Given the description of an element on the screen output the (x, y) to click on. 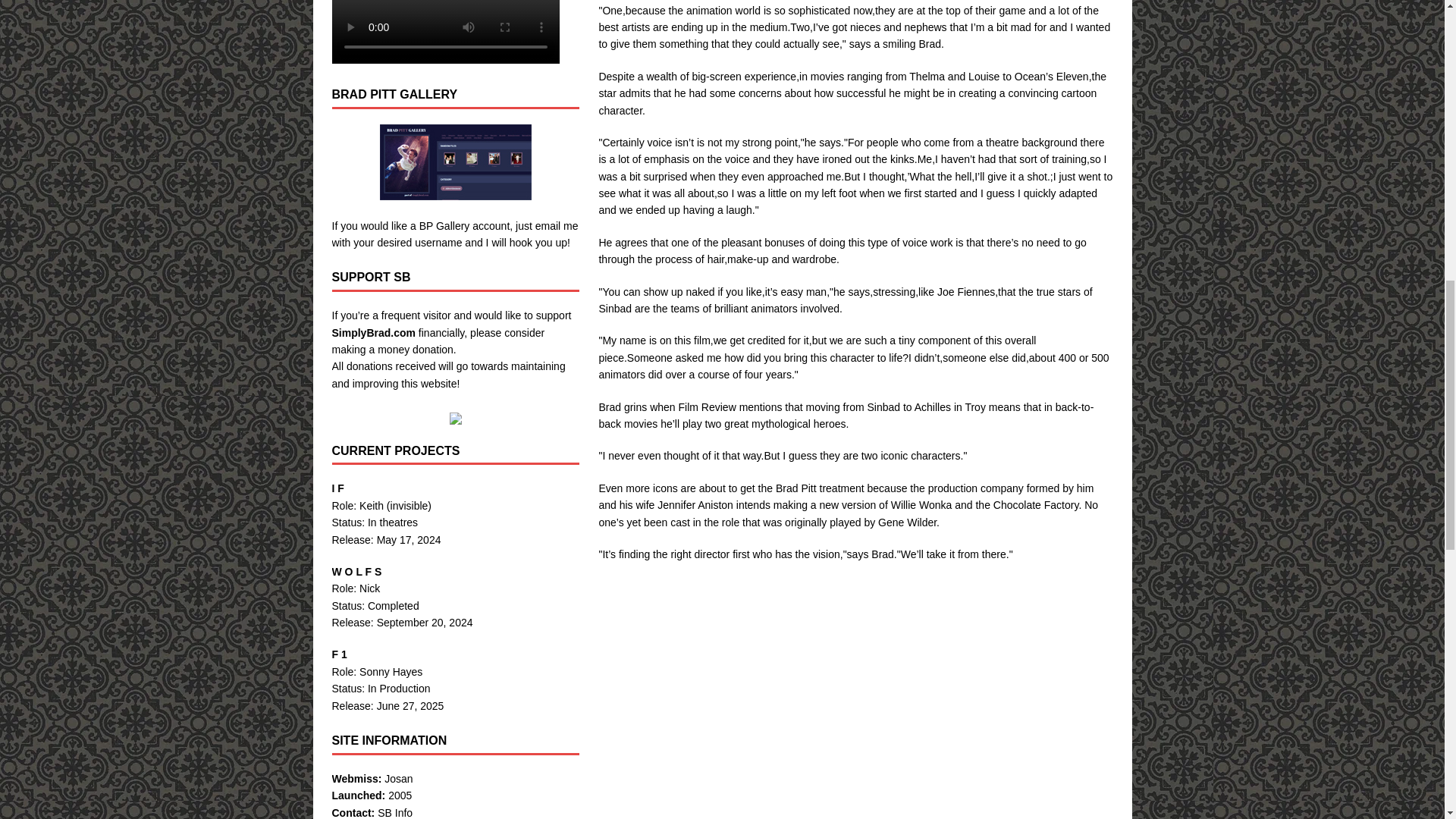
SB Info (394, 812)
email me (556, 225)
BP Gallery (444, 225)
